Given the description of an element on the screen output the (x, y) to click on. 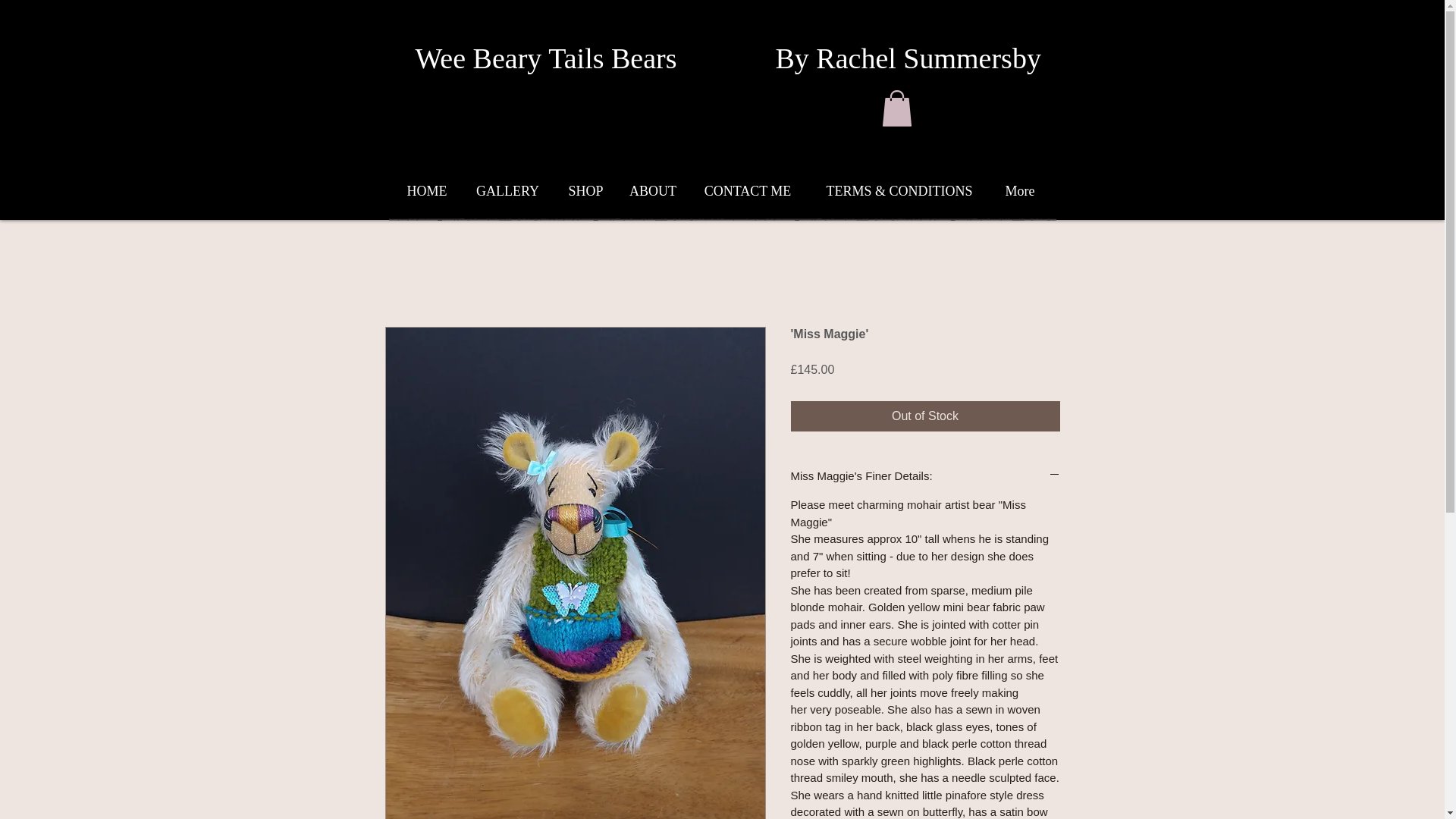
Wee Beary Tails Bears (545, 58)
CONTACT ME (747, 190)
Out of Stock (924, 416)
Miss Maggie's Finer Details: (924, 475)
SHOP (585, 190)
HOME (427, 190)
GALLERY (507, 190)
ABOUT (652, 190)
By Rachel Summersby (907, 58)
